Given the description of an element on the screen output the (x, y) to click on. 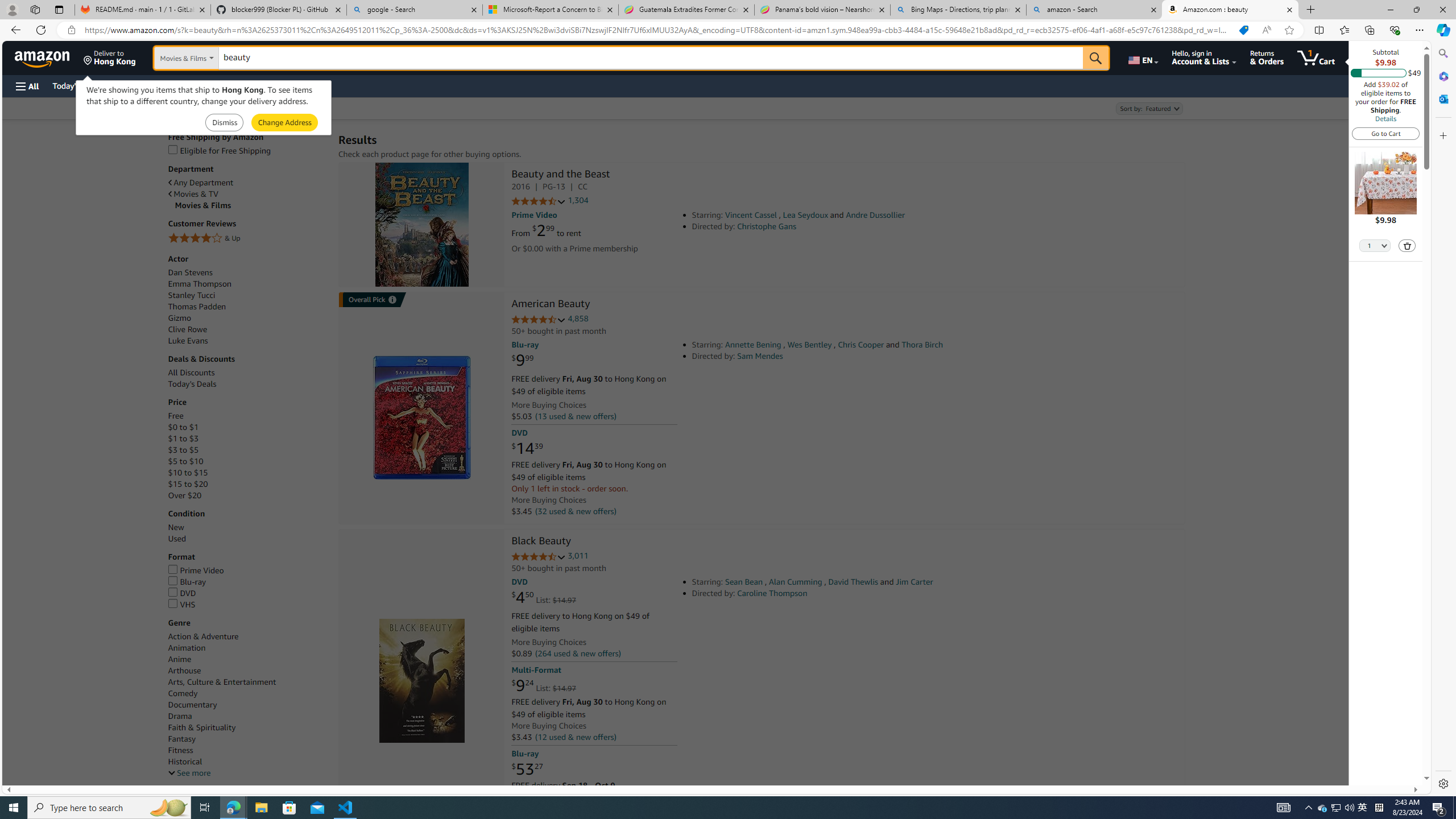
Historical (184, 761)
$5 to $10 (185, 461)
Used (247, 538)
Gizmo (247, 317)
$14.39 (527, 448)
Arthouse (247, 670)
Caroline Thompson (772, 593)
Comedy (247, 693)
Faith & Spirituality (247, 727)
Any Department (247, 182)
$9.99 (522, 360)
Open Menu (26, 86)
